Given the description of an element on the screen output the (x, y) to click on. 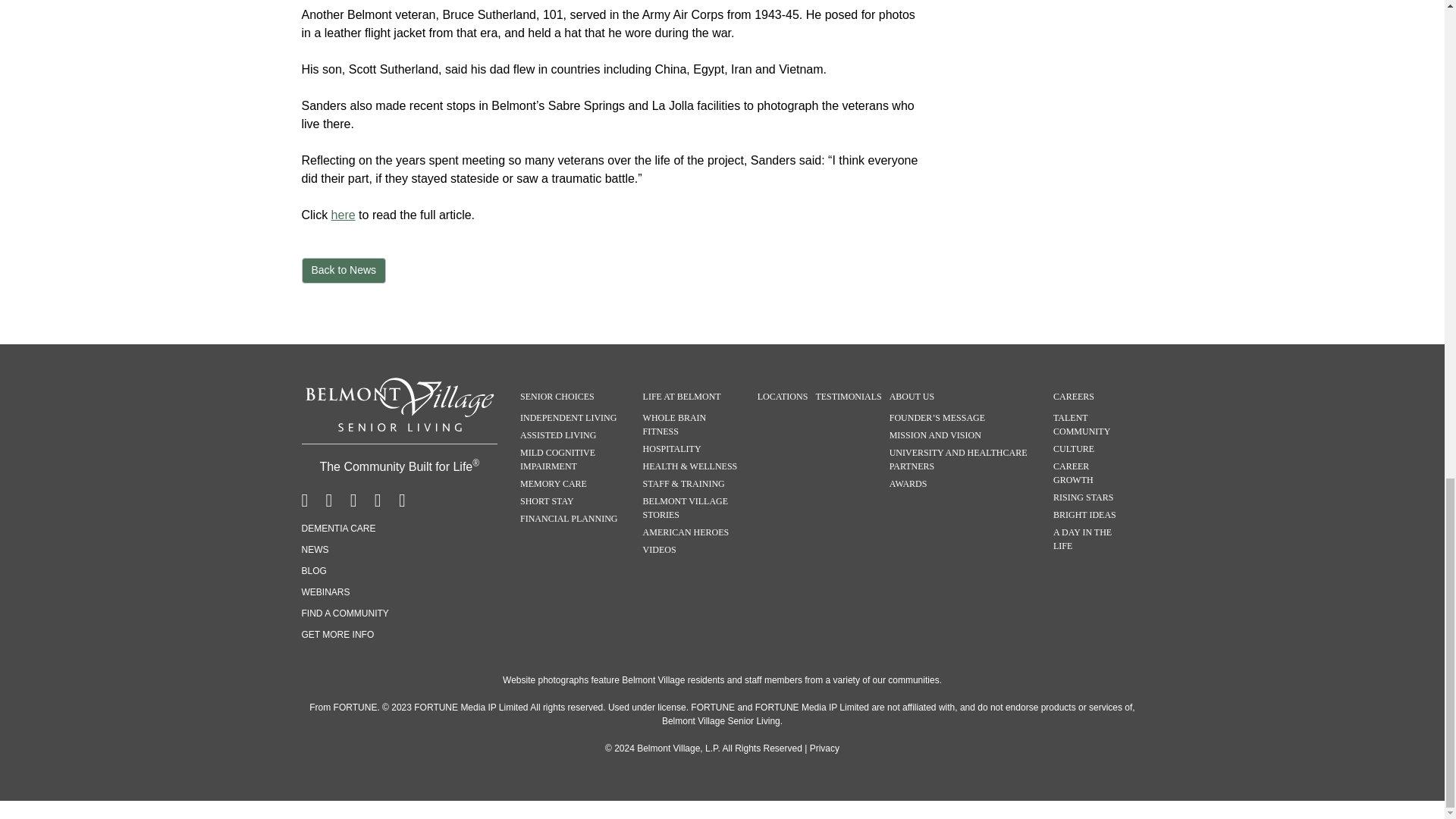
here (343, 214)
